Given the description of an element on the screen output the (x, y) to click on. 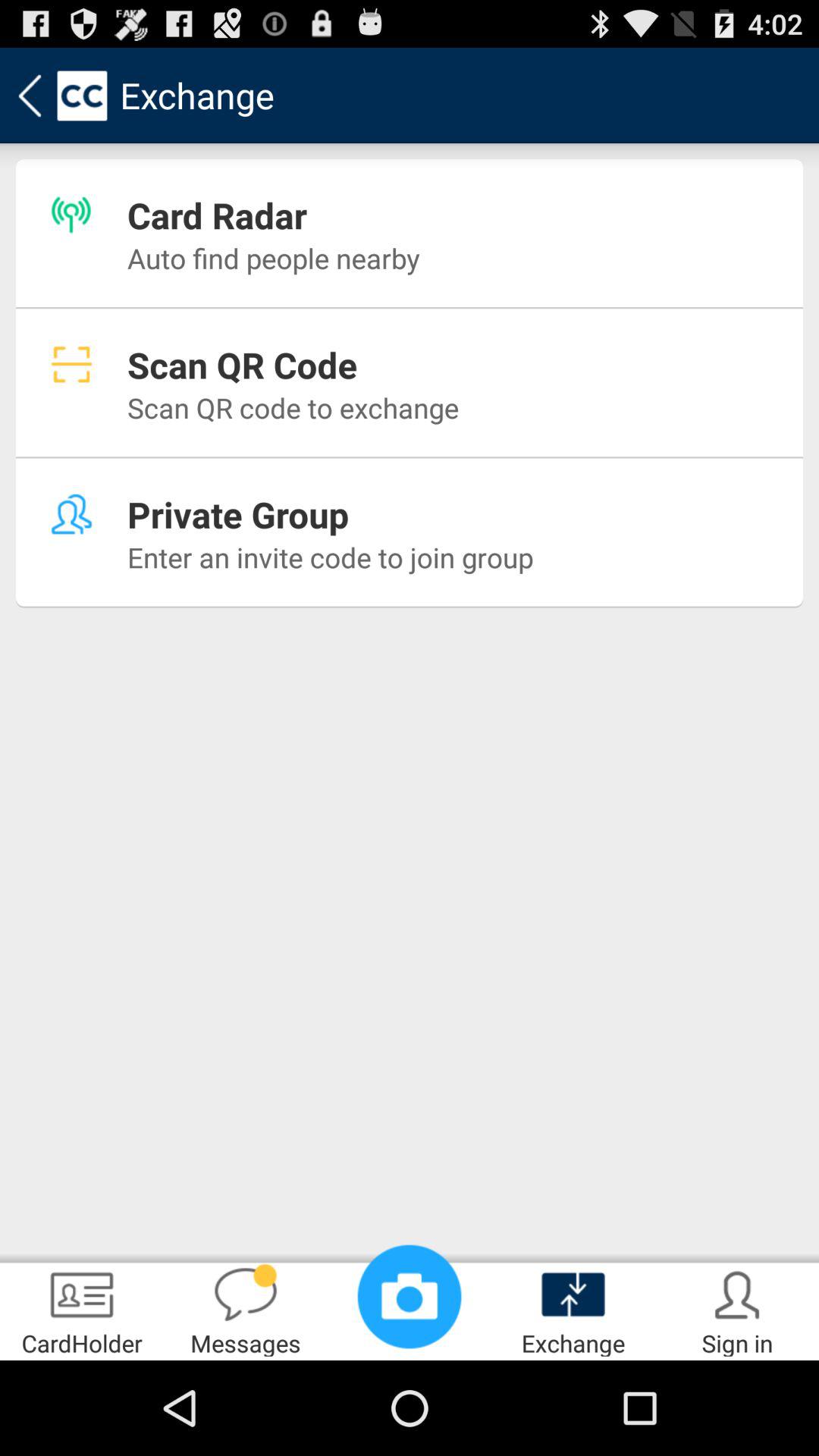
jump until messages (245, 1309)
